Given the description of an element on the screen output the (x, y) to click on. 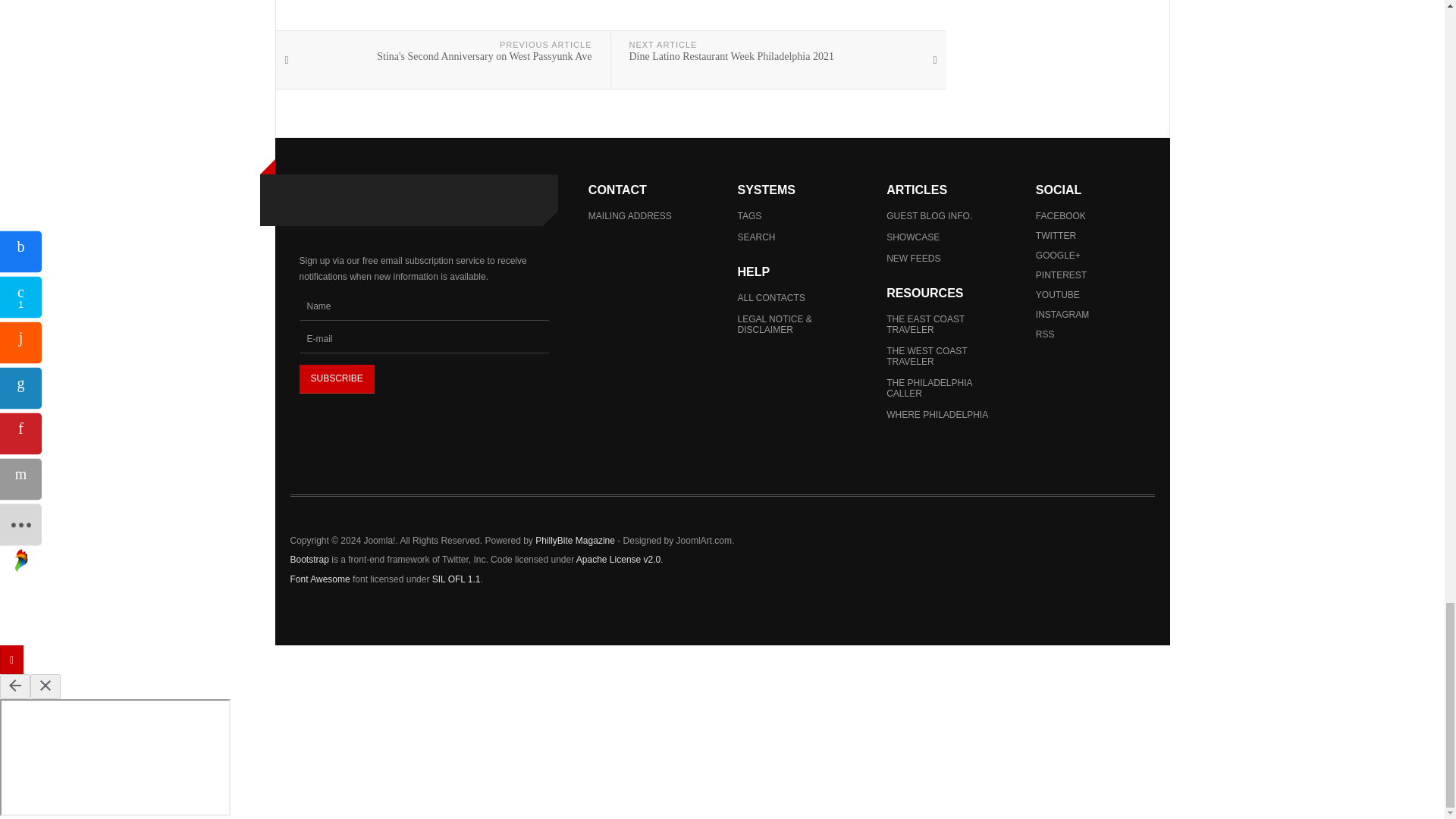
Subscribe (336, 378)
Name (423, 306)
E-mail (423, 338)
